Given the description of an element on the screen output the (x, y) to click on. 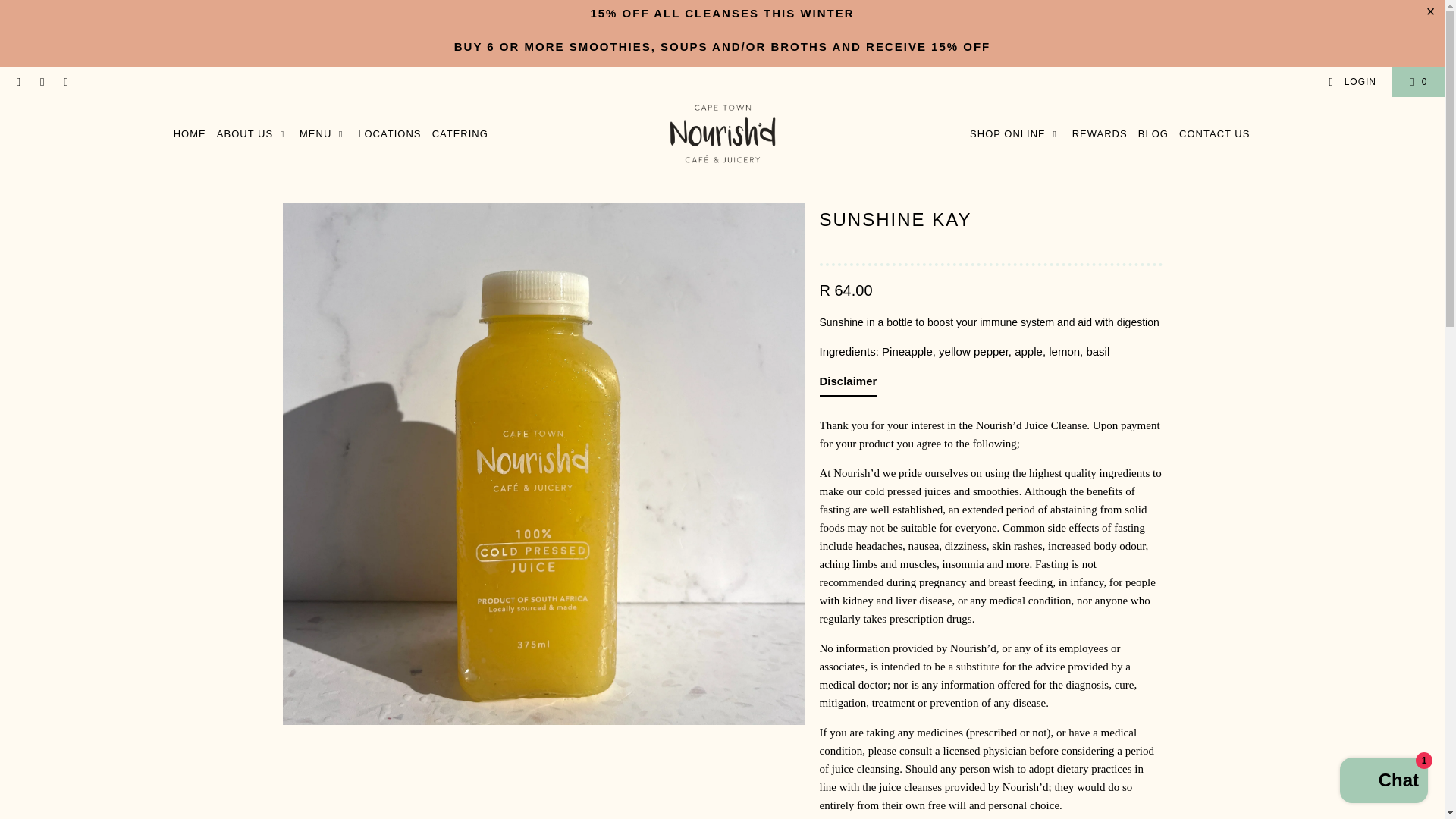
My Account  (1351, 81)
